Given the description of an element on the screen output the (x, y) to click on. 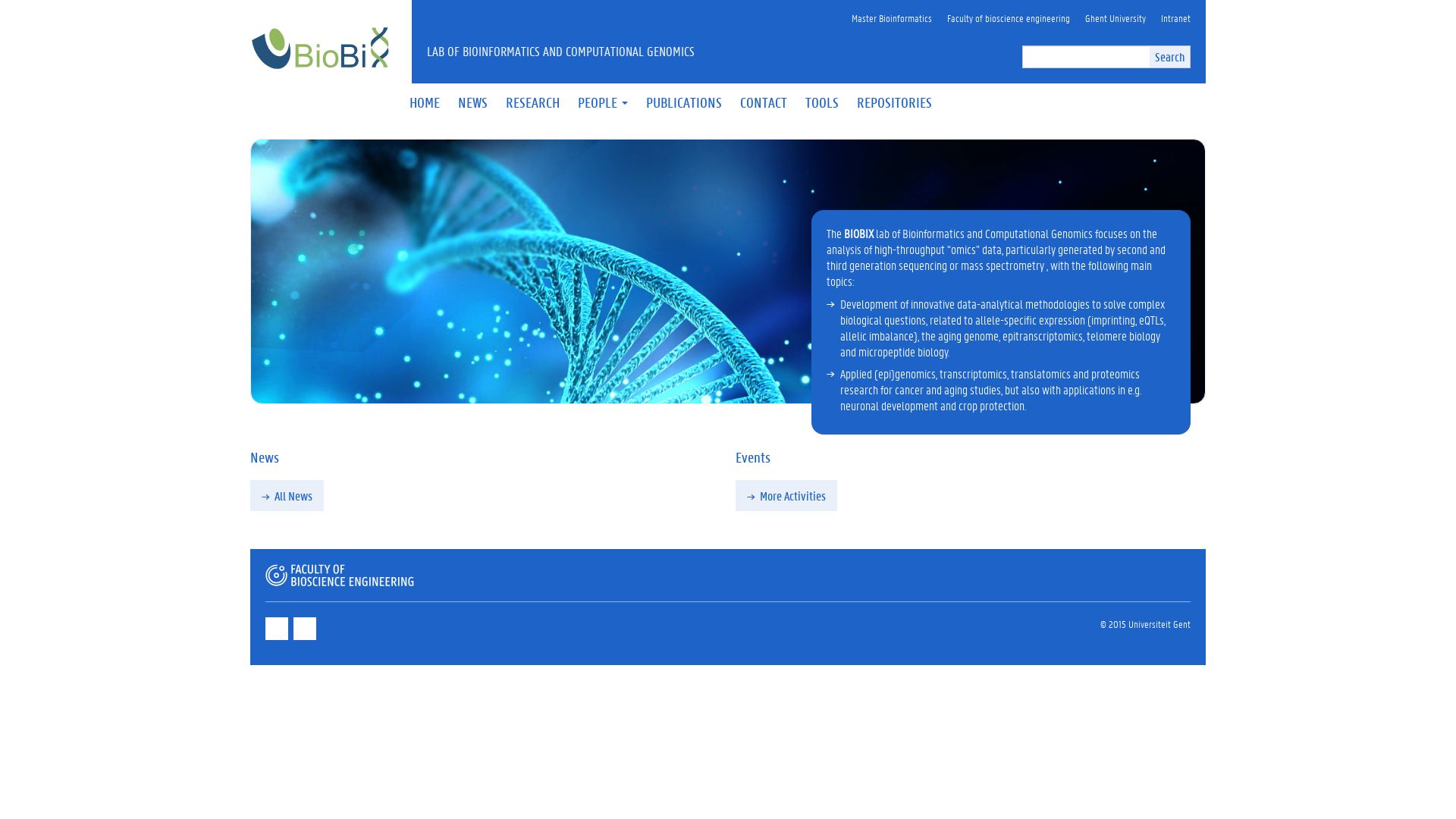
Faculty of bioscience engineering Element type: text (1008, 17)
RESEARCH Element type: text (532, 102)
More Activities Element type: text (786, 495)
LAB OF BIOINFORMATICS AND COMPUTATIONAL GENOMICS Element type: text (646, 50)
Master Bioinformatics Element type: text (891, 17)
NEWS Element type: text (472, 102)
Intranet Element type: text (1175, 17)
Ghent University Element type: text (1115, 17)
All News Element type: text (286, 495)
TOOLS Element type: text (821, 102)
PEOPLE Element type: text (602, 102)
CONTACT Element type: text (763, 102)
REPOSITORIES Element type: text (894, 102)
HOME Element type: text (424, 102)
PUBLICATIONS Element type: text (684, 102)
Twitter Element type: text (306, 636)
Search Element type: text (1169, 55)
Facebook Element type: text (278, 636)
